Given the description of an element on the screen output the (x, y) to click on. 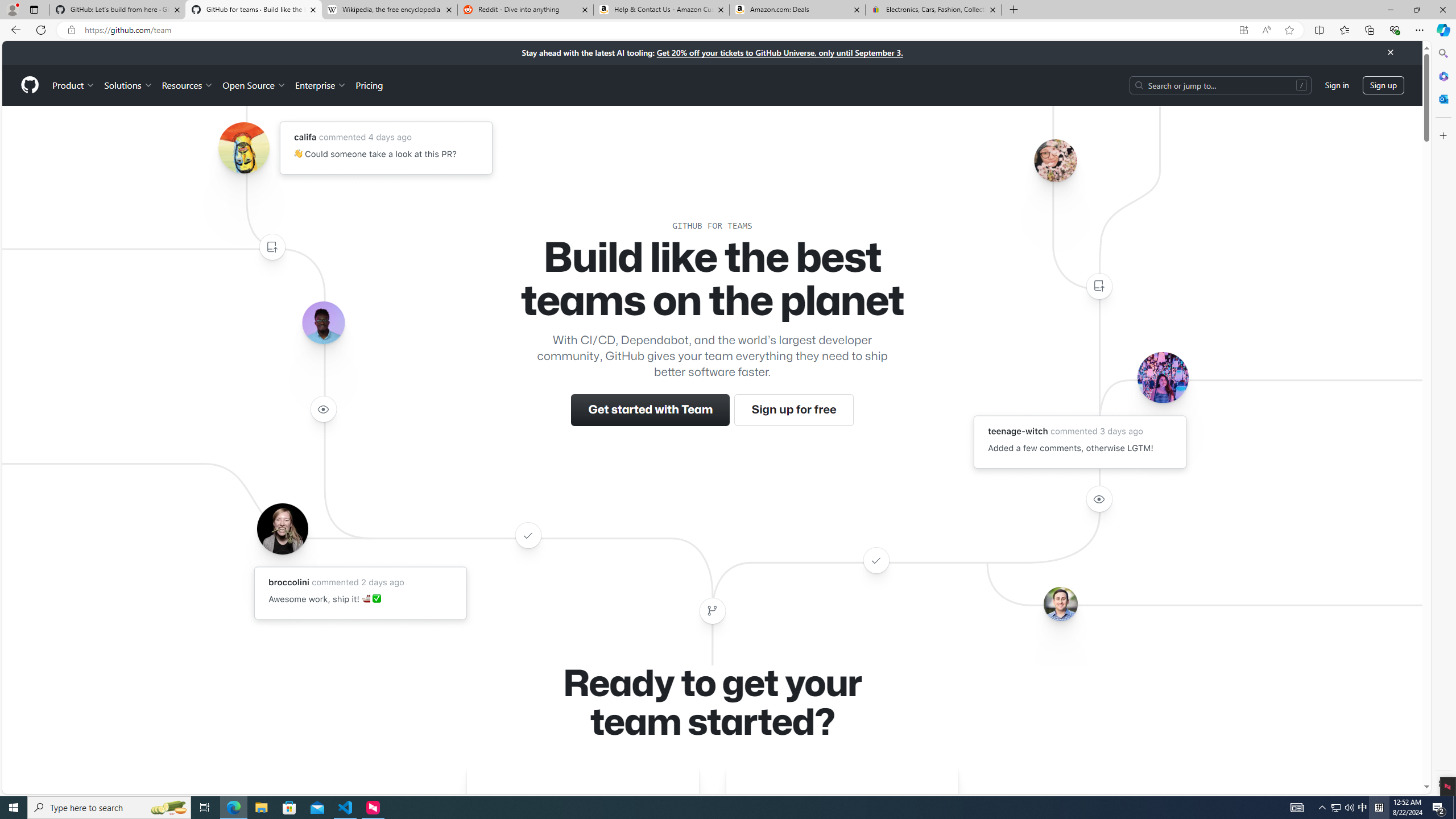
Avatar of the user broccolini (282, 528)
App available. Install GitHub (1243, 29)
Sign up for free (793, 409)
Avatar of the user lerebear (323, 322)
Product (74, 84)
Amazon.com: Deals (797, 9)
Product (74, 84)
Open Source (254, 84)
